Given the description of an element on the screen output the (x, y) to click on. 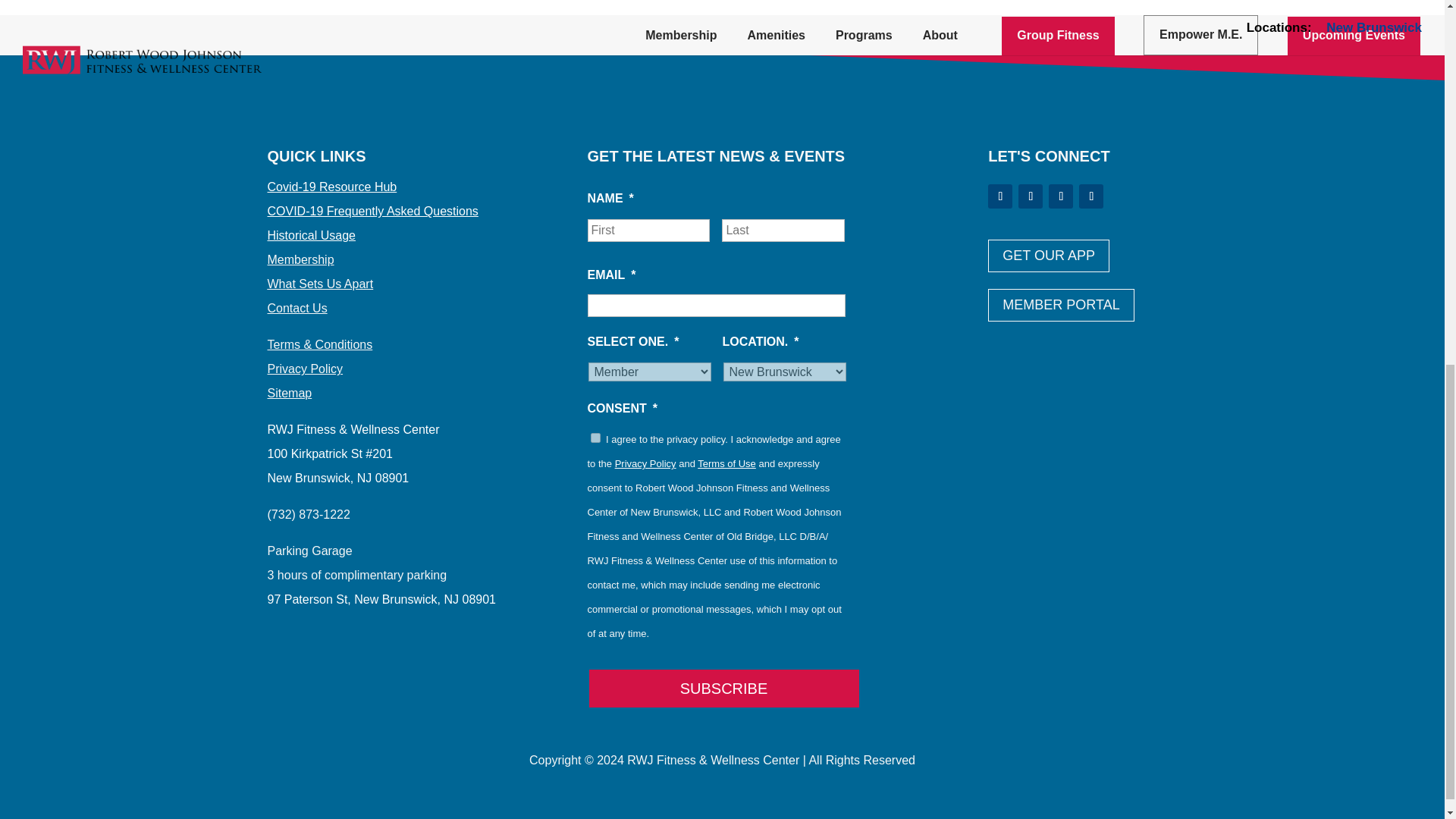
1 (594, 438)
Follow on X (1029, 196)
SUBSCRIBE (723, 688)
Follow on Youtube (1090, 196)
Follow on Facebook (999, 196)
Follow on Instagram (1060, 196)
